Given the description of an element on the screen output the (x, y) to click on. 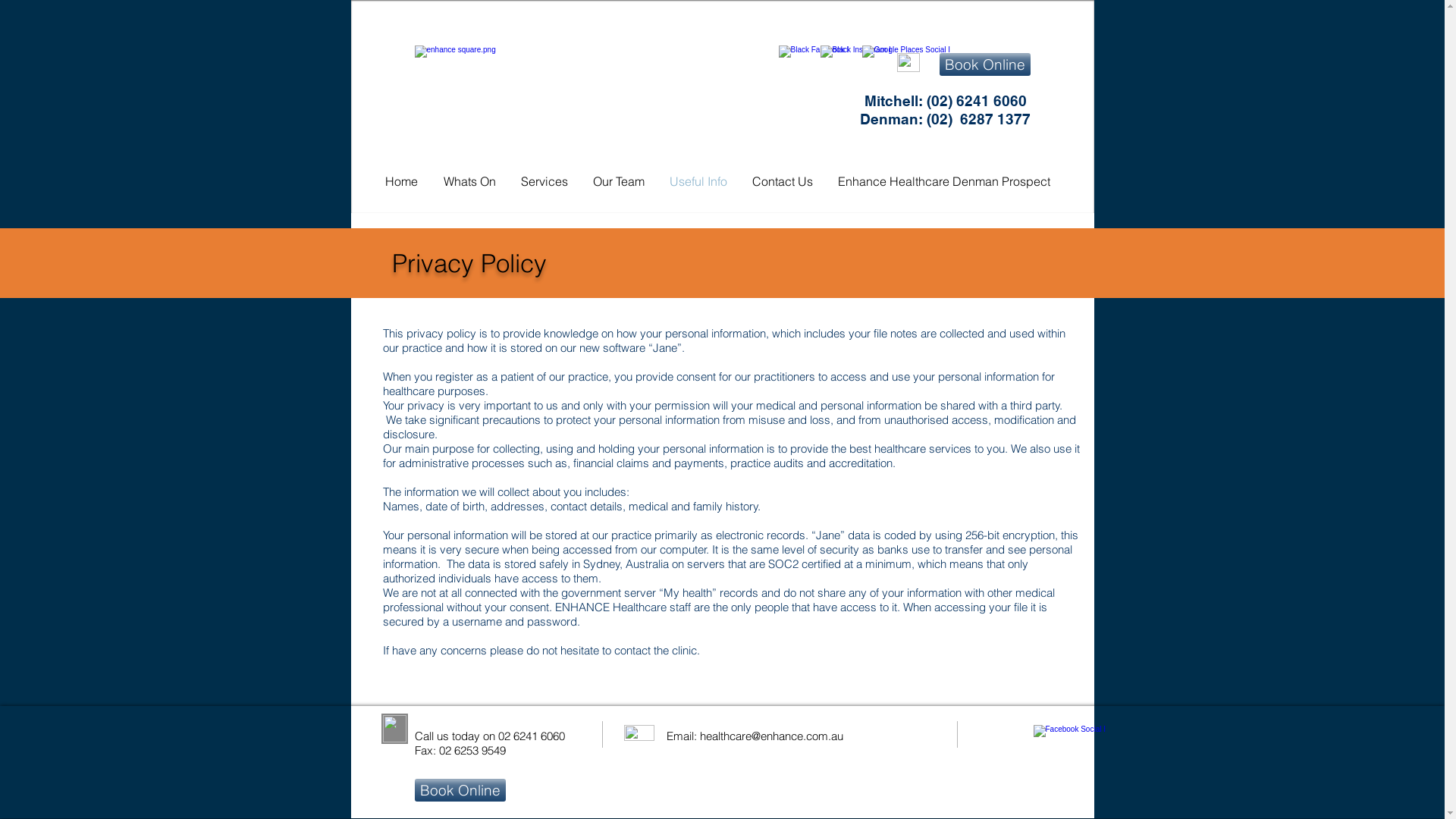
Our Team Element type: text (618, 181)
Home Element type: text (400, 181)
healthcare@enhance.com.au Element type: text (770, 735)
Whats On Element type: text (469, 181)
Useful Info Element type: text (697, 181)
Book Online Element type: text (459, 789)
Contact Us Element type: text (782, 181)
Services Element type: text (544, 181)
Enhance Healthcare Denman Prospect Element type: text (943, 181)
Book Online Element type: text (983, 64)
